Given the description of an element on the screen output the (x, y) to click on. 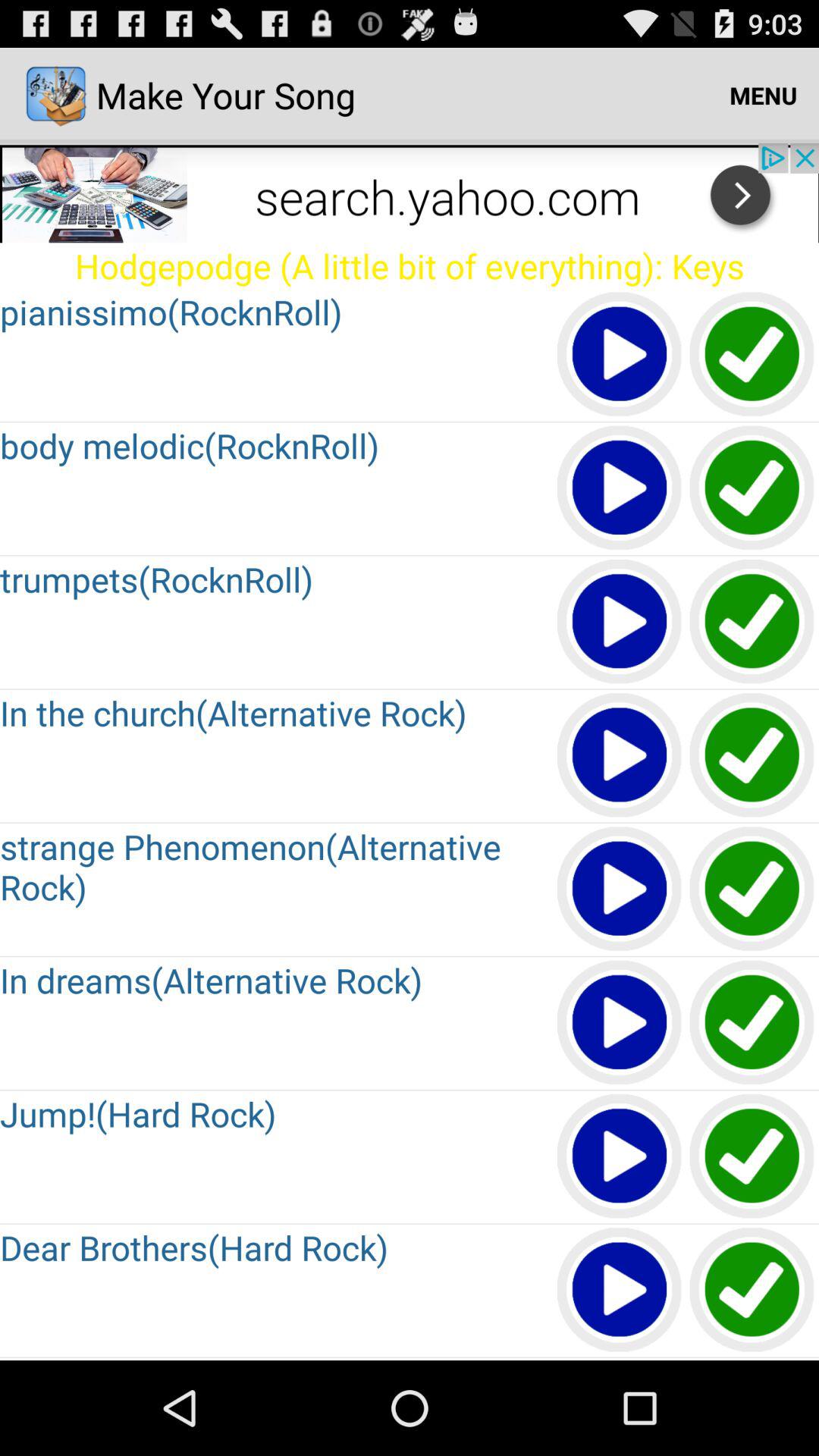
select song (752, 1156)
